Given the description of an element on the screen output the (x, y) to click on. 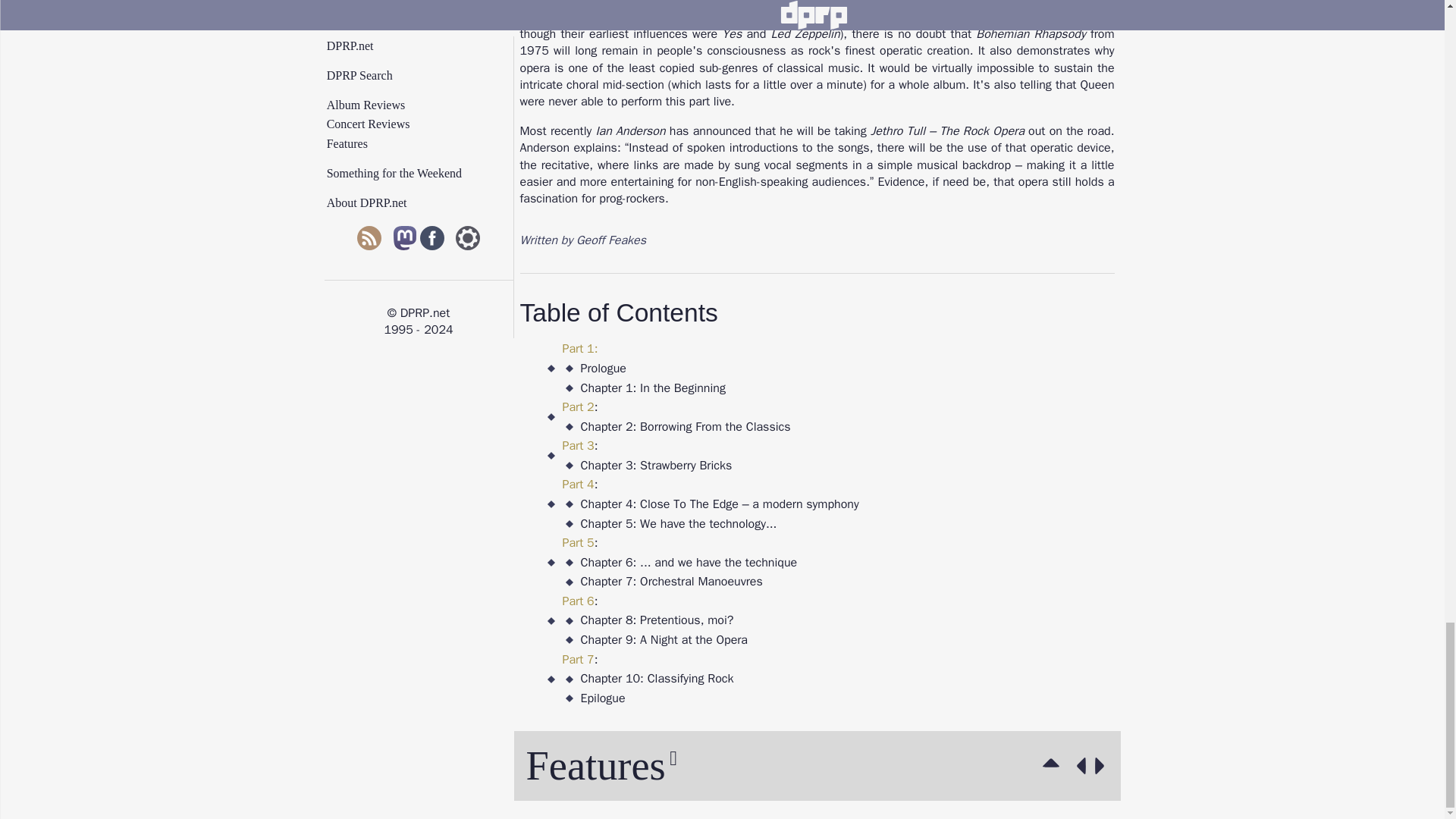
Symphony to Synths (1077, 765)
Part 3 (578, 445)
Part 7 (578, 659)
Part 4 (578, 484)
Part 2 (578, 406)
Part 5 (578, 542)
Part 1: (580, 348)
Features (1053, 765)
Symphony to Synths (1102, 765)
Part 6 (578, 601)
